Given the description of an element on the screen output the (x, y) to click on. 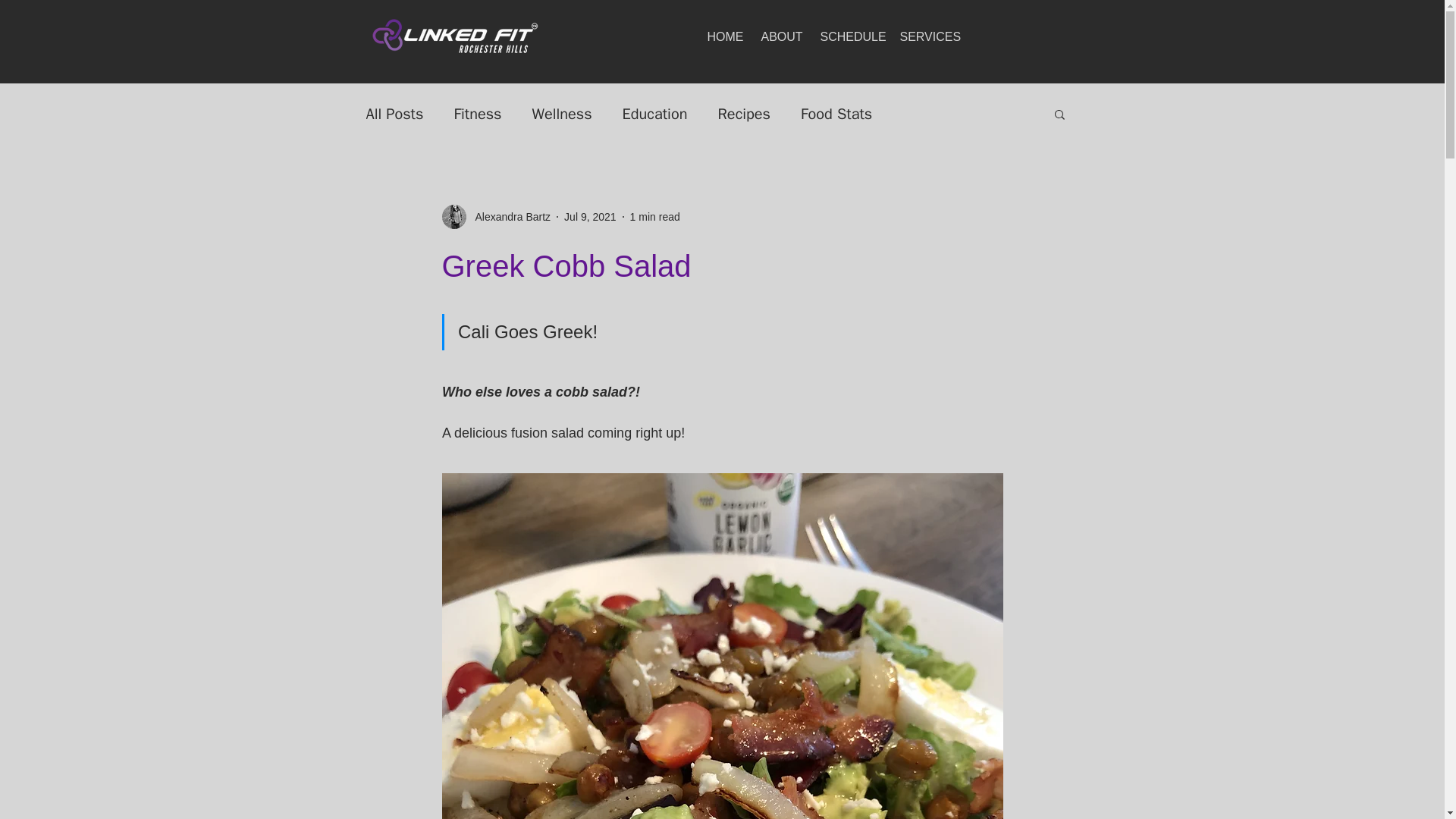
Recipes (743, 113)
All Posts (394, 113)
Alexandra Bartz (507, 217)
Wellness (562, 113)
Education (655, 113)
Jul 9, 2021 (589, 216)
SCHEDULE (848, 36)
Fitness (476, 113)
HOME (722, 36)
1 min read (654, 216)
Food Stats (836, 113)
ABOUT (778, 36)
Alexandra Bartz (495, 216)
